Given the description of an element on the screen output the (x, y) to click on. 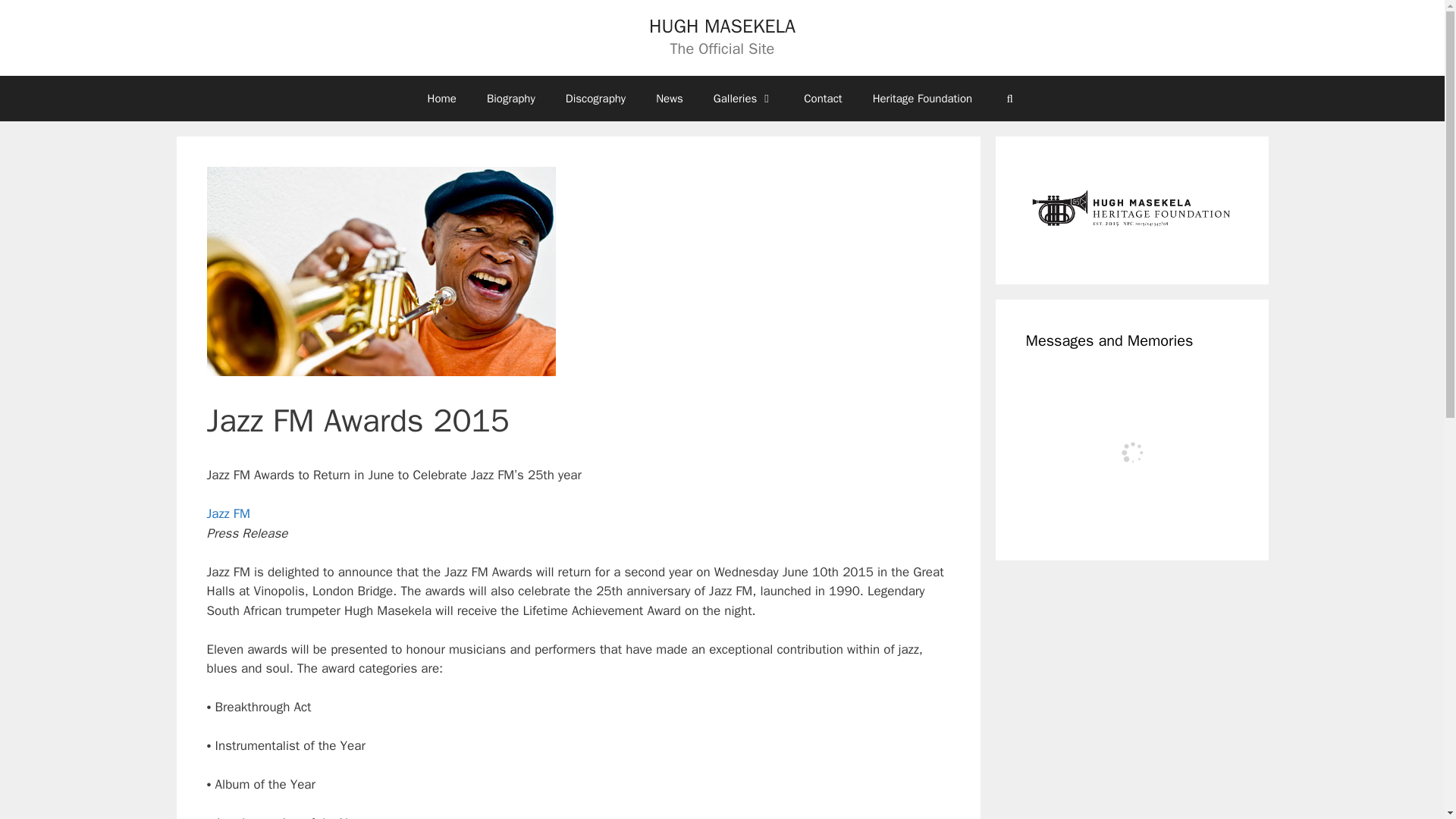
Galleries (743, 98)
Discography (595, 98)
Jazz FM (227, 513)
Heritage Foundation (922, 98)
Contact (823, 98)
Biography (510, 98)
HMHF LOGO black (1131, 210)
News (669, 98)
HUGH MASEKELA (721, 25)
Home (441, 98)
